Given the description of an element on the screen output the (x, y) to click on. 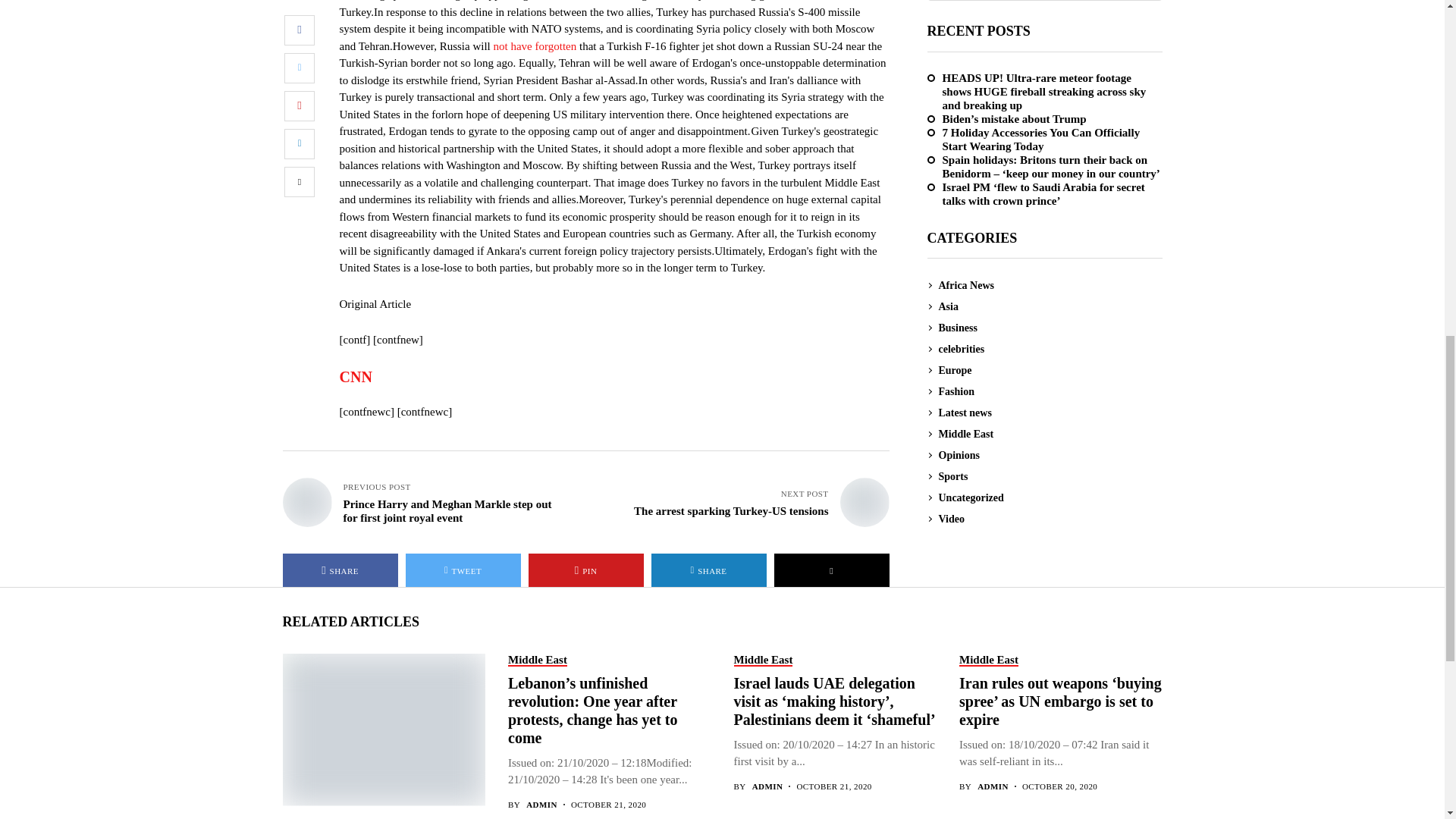
Posts by admin (767, 786)
Posts by admin (992, 786)
Posts by admin (541, 804)
